Given the description of an element on the screen output the (x, y) to click on. 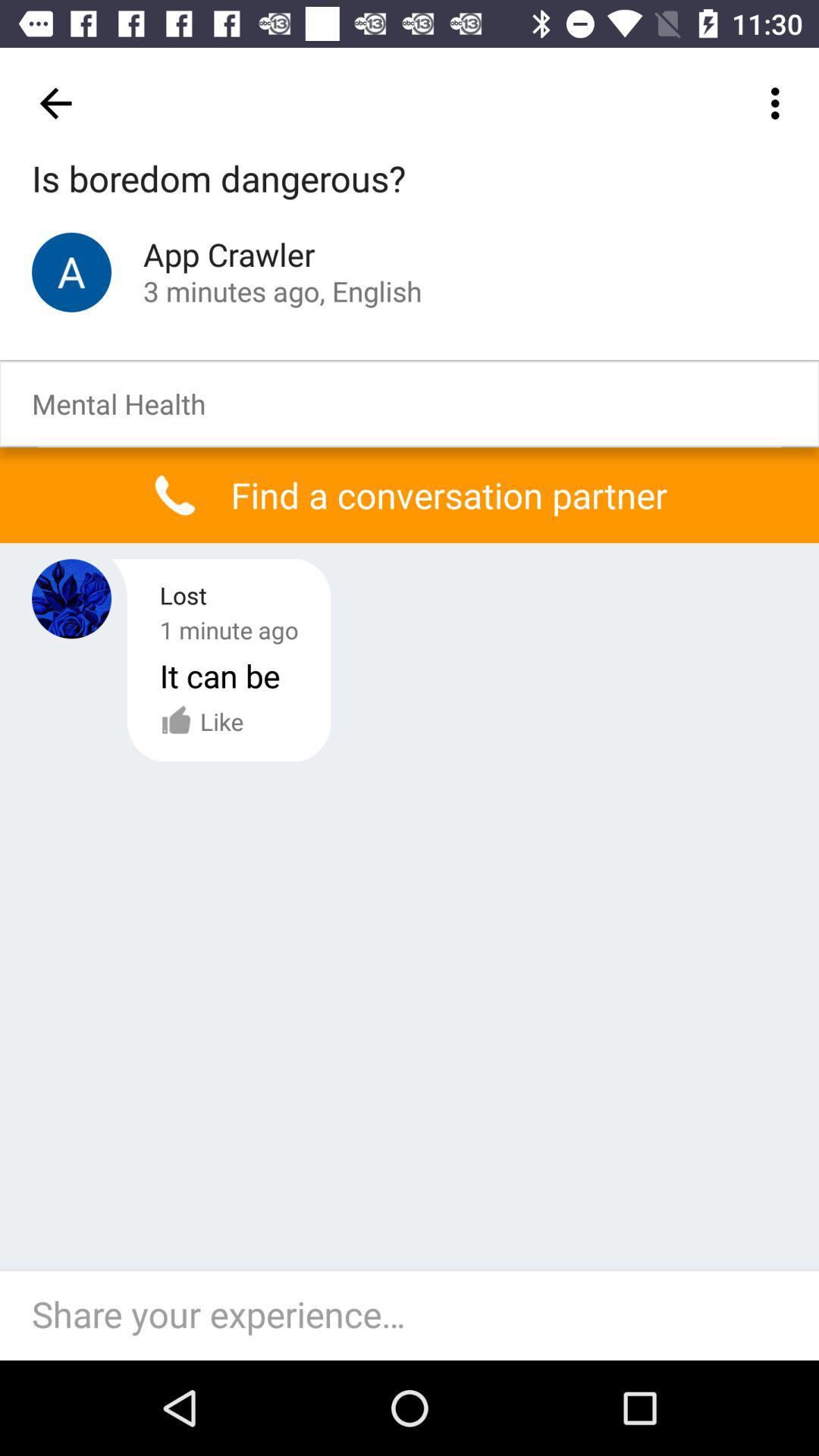
text box (417, 1315)
